Given the description of an element on the screen output the (x, y) to click on. 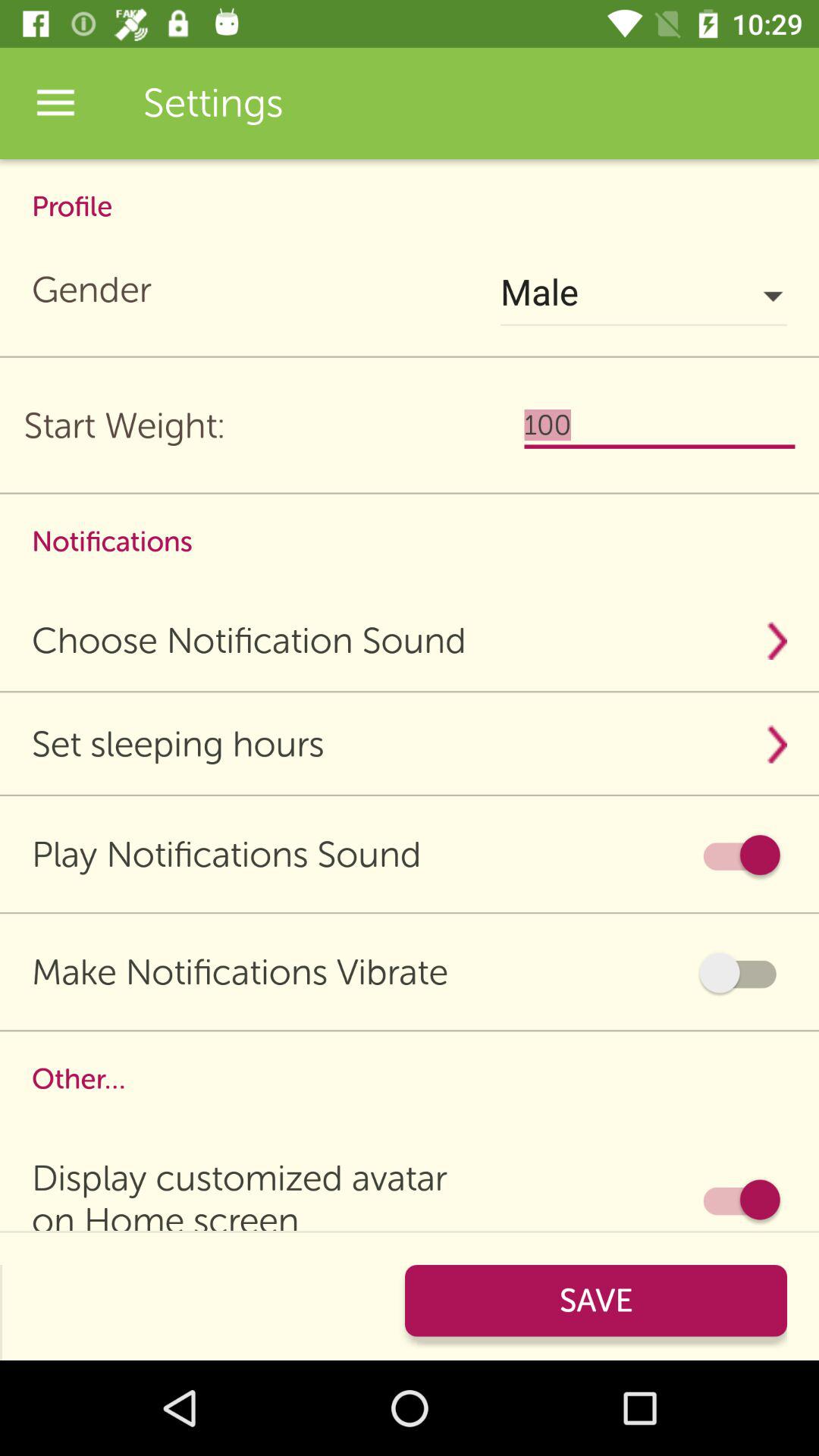
turn off save icon (595, 1300)
